Given the description of an element on the screen output the (x, y) to click on. 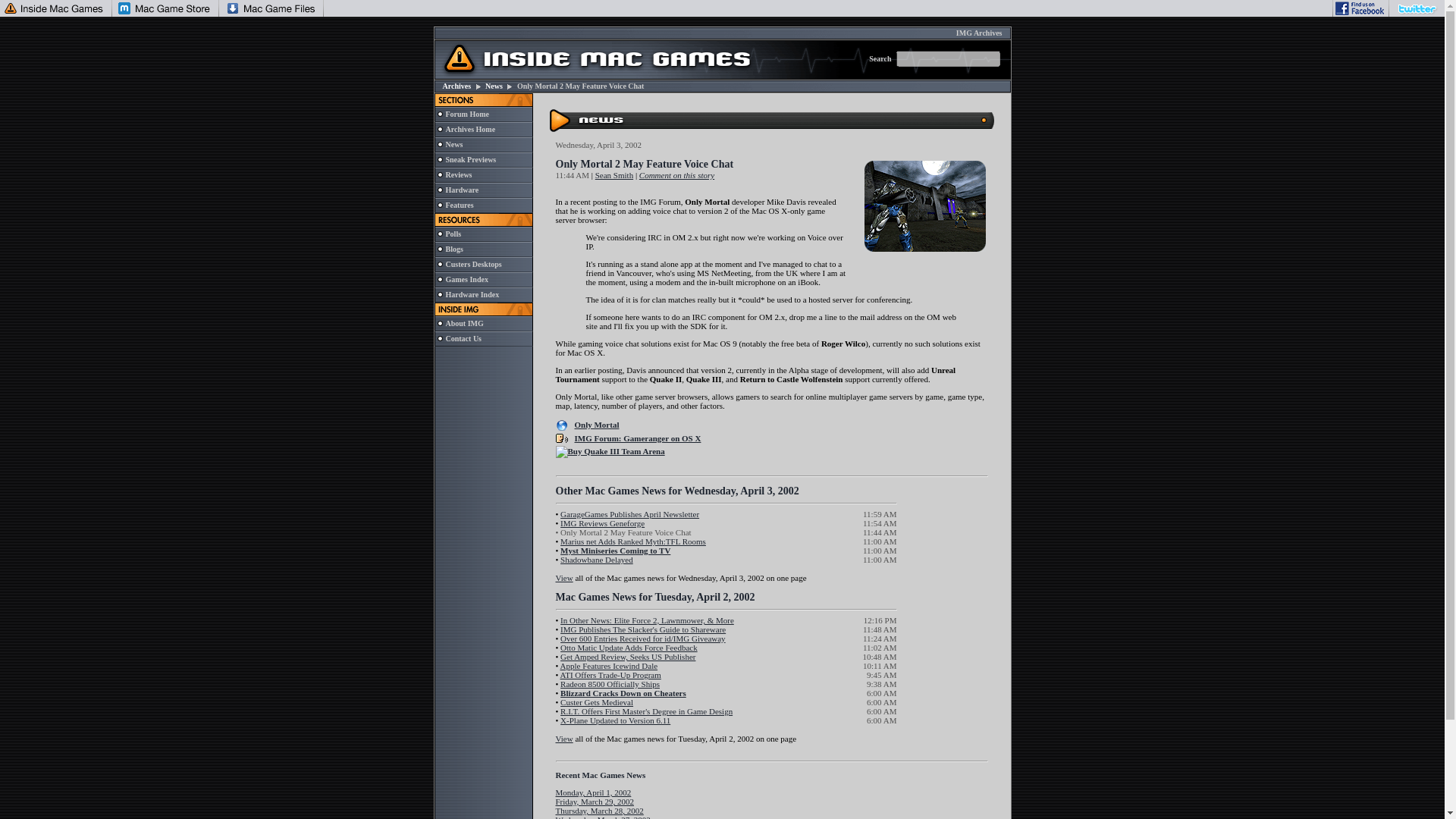
Archives (456, 85)
Only Mortal (597, 424)
Marius net Adds Ranked Myth:TFL Rooms (633, 541)
Hardware Index (472, 294)
Features (459, 204)
Shadowbane Delayed (596, 559)
Otto Matic Update Adds Force Feedback (628, 646)
IMG Forum: Gameranger on OS X (638, 438)
Myst Miniseries Coming to TV (614, 550)
Sneak Previews (470, 159)
